Given the description of an element on the screen output the (x, y) to click on. 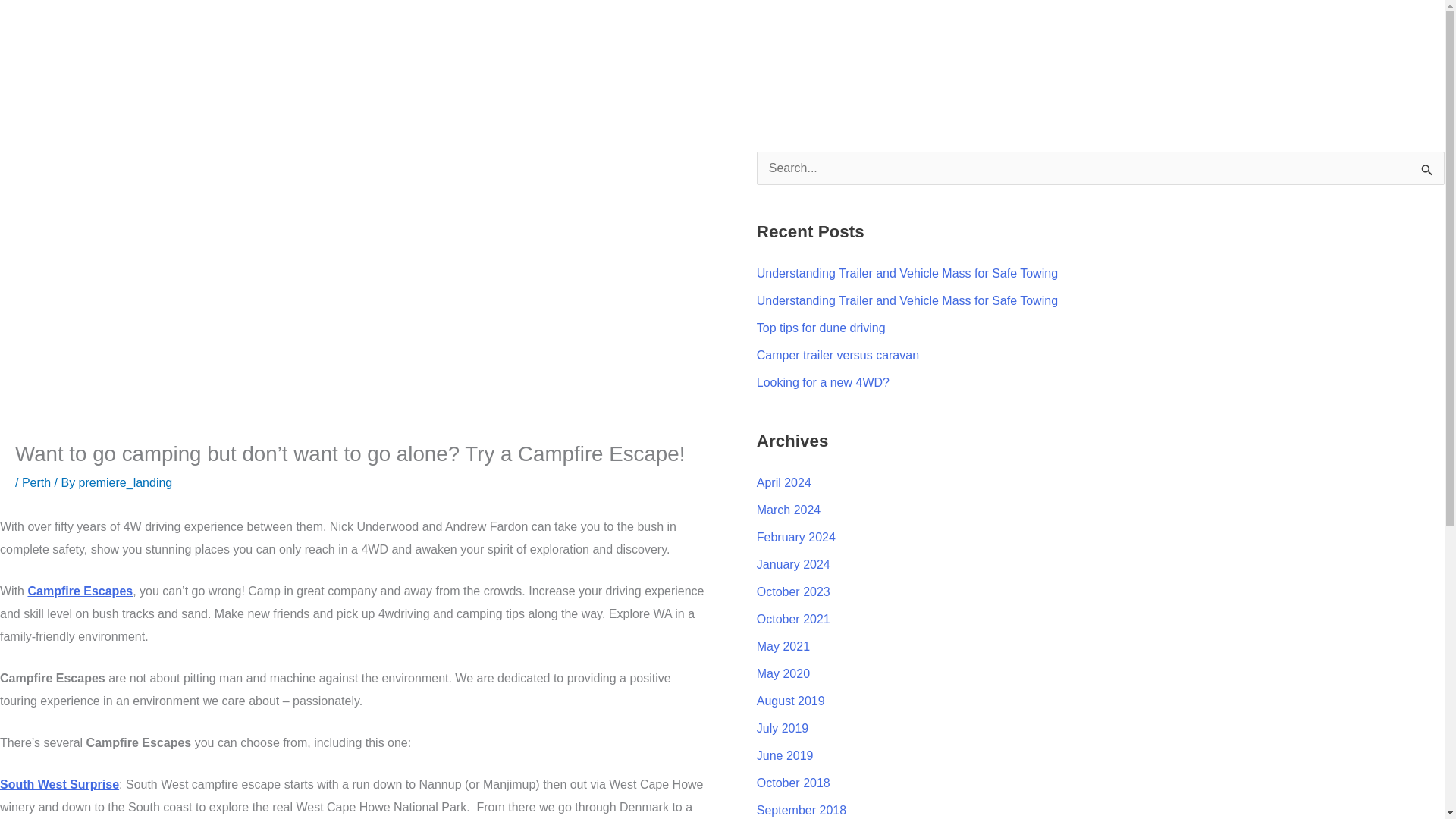
Campfire Escapes (79, 590)
BUY TICKETS (510, 74)
Perth (35, 481)
South West Surprise (59, 784)
VISITORS (597, 74)
EXHIBITORS (414, 74)
CONTACT (674, 74)
